Given the description of an element on the screen output the (x, y) to click on. 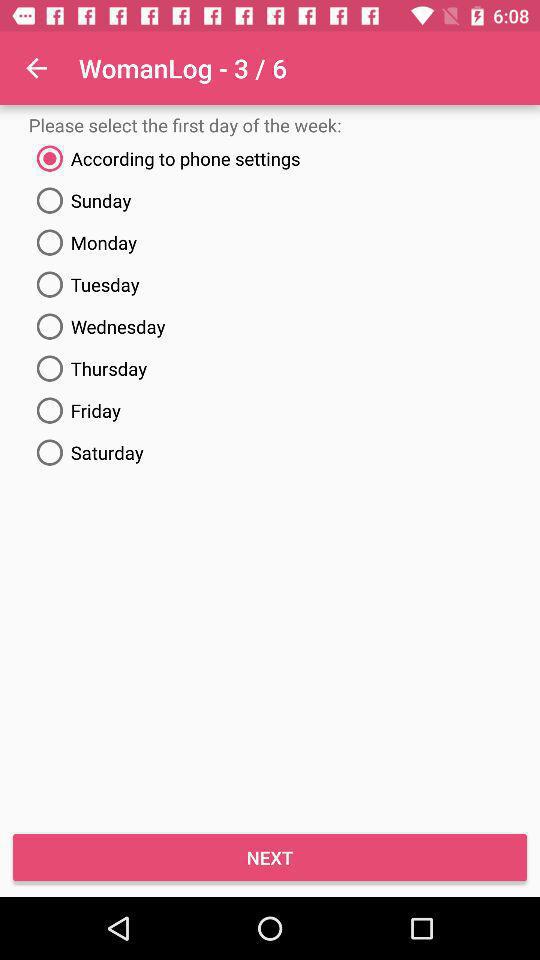
select item above tuesday item (269, 242)
